Given the description of an element on the screen output the (x, y) to click on. 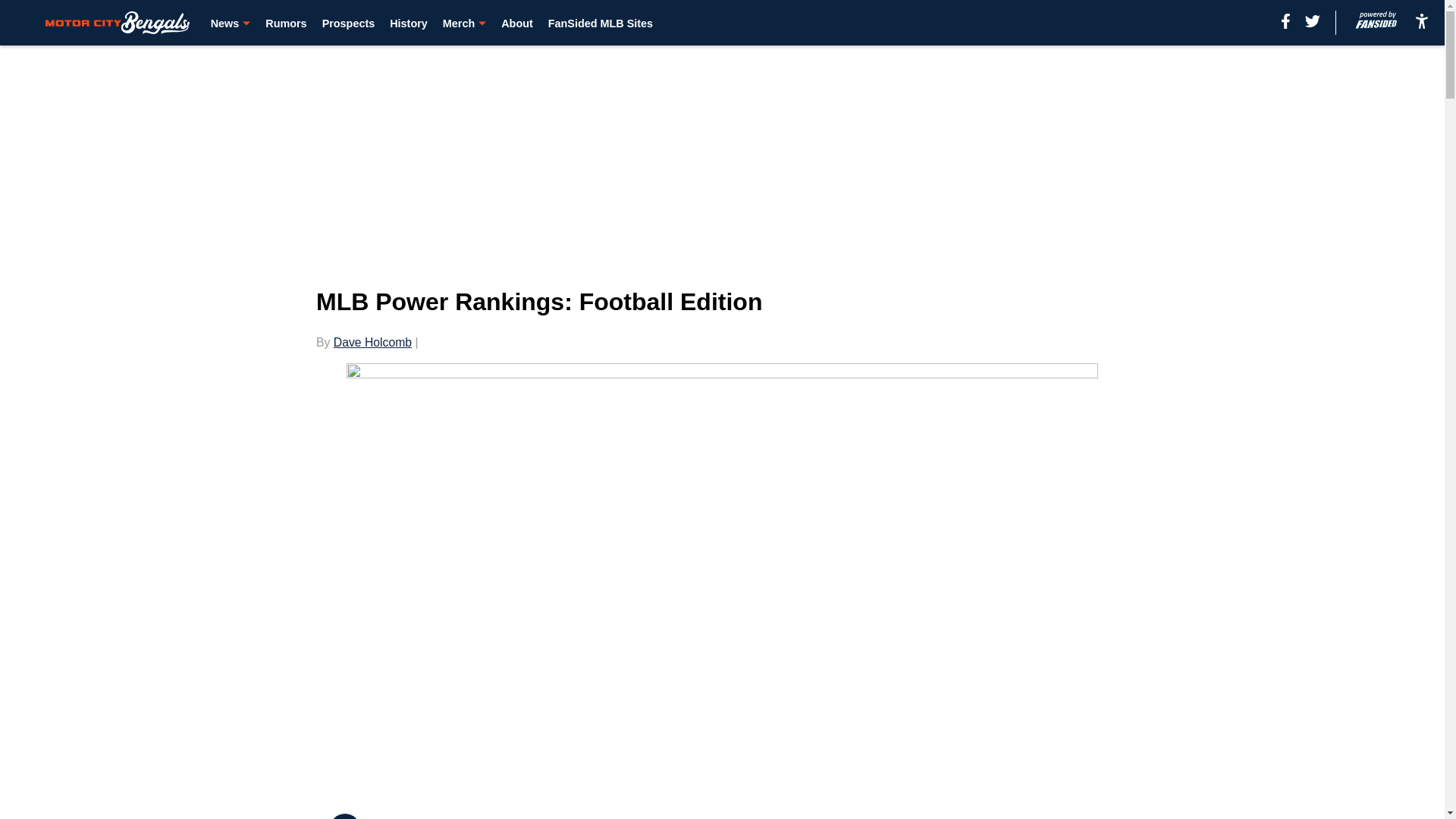
FanSided MLB Sites (600, 23)
History (409, 23)
Rumors (284, 23)
About (516, 23)
Prospects (348, 23)
Dave Holcomb (372, 341)
